Given the description of an element on the screen output the (x, y) to click on. 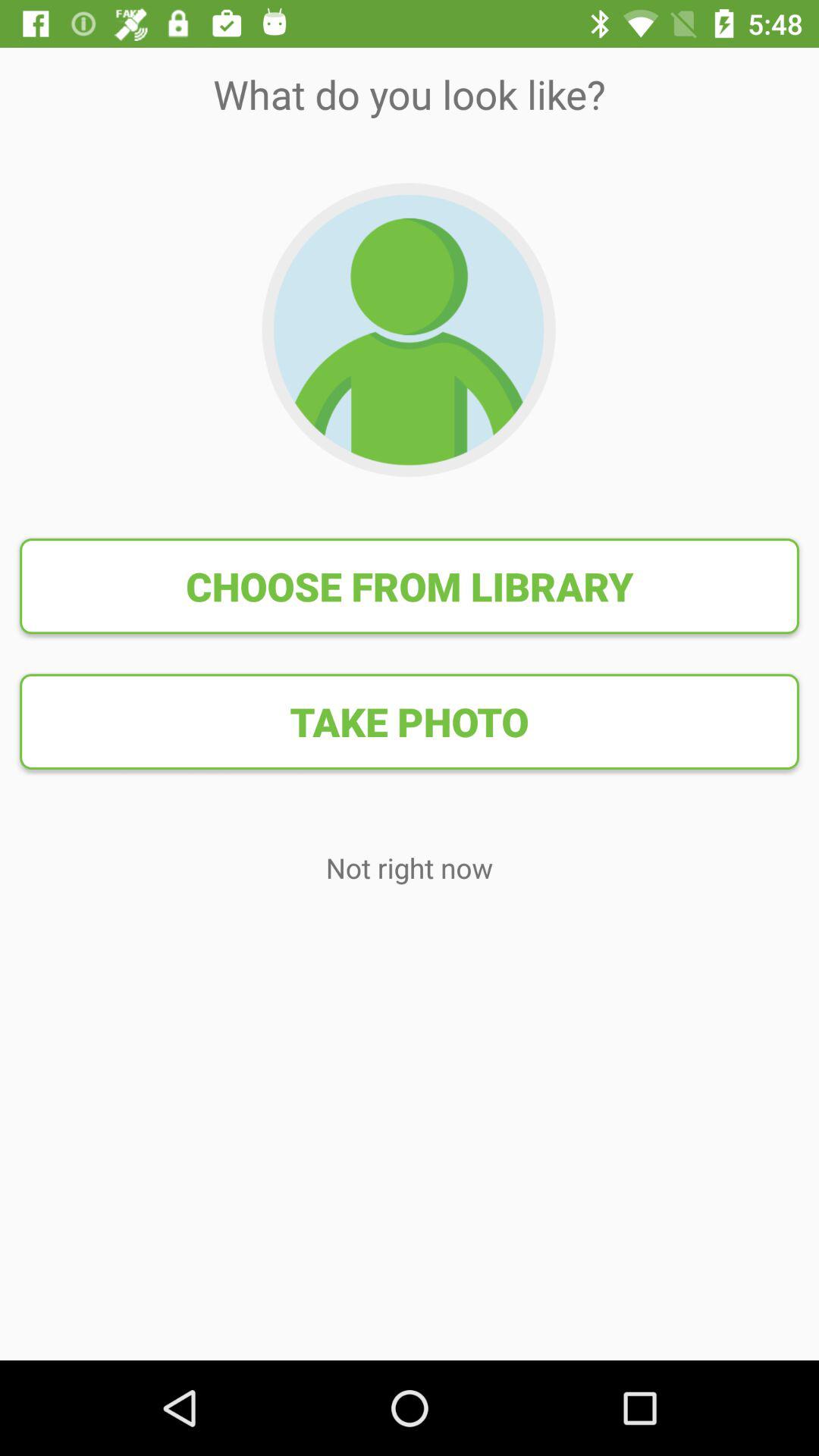
scroll until not right now icon (409, 867)
